Given the description of an element on the screen output the (x, y) to click on. 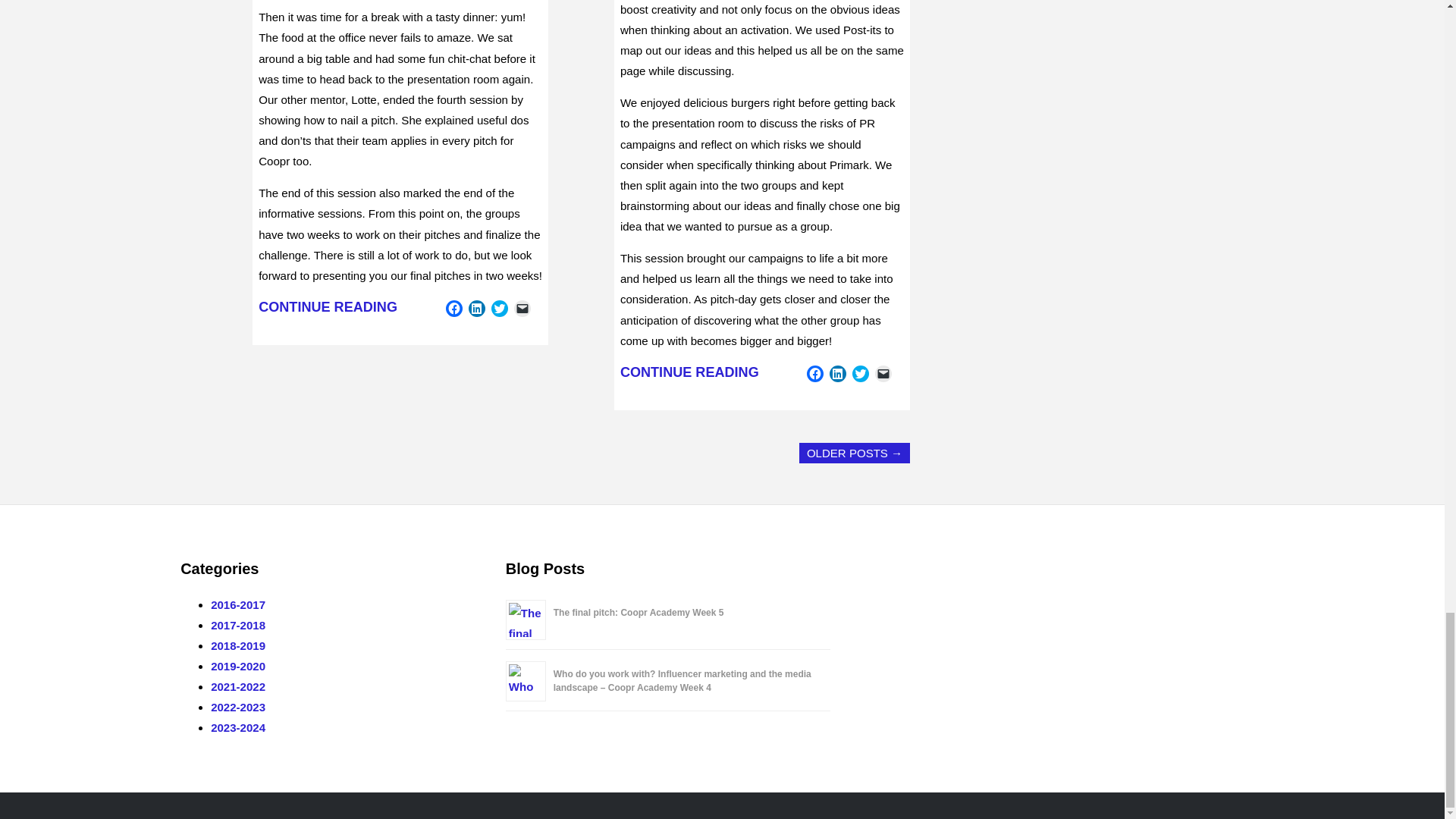
Click to share on LinkedIn (837, 373)
Click to share on LinkedIn (476, 308)
Click to share on Facebook (815, 373)
CONTINUE READING (328, 306)
Click to share on Facebook (454, 308)
CONTINUE READING (689, 372)
Click to email a link to a friend (883, 373)
From Air Bag to Literal Tote Bag: Coopr Academy Week 3 (689, 372)
Click to email a link to a friend (522, 308)
Click to share on Twitter (500, 308)
